Given the description of an element on the screen output the (x, y) to click on. 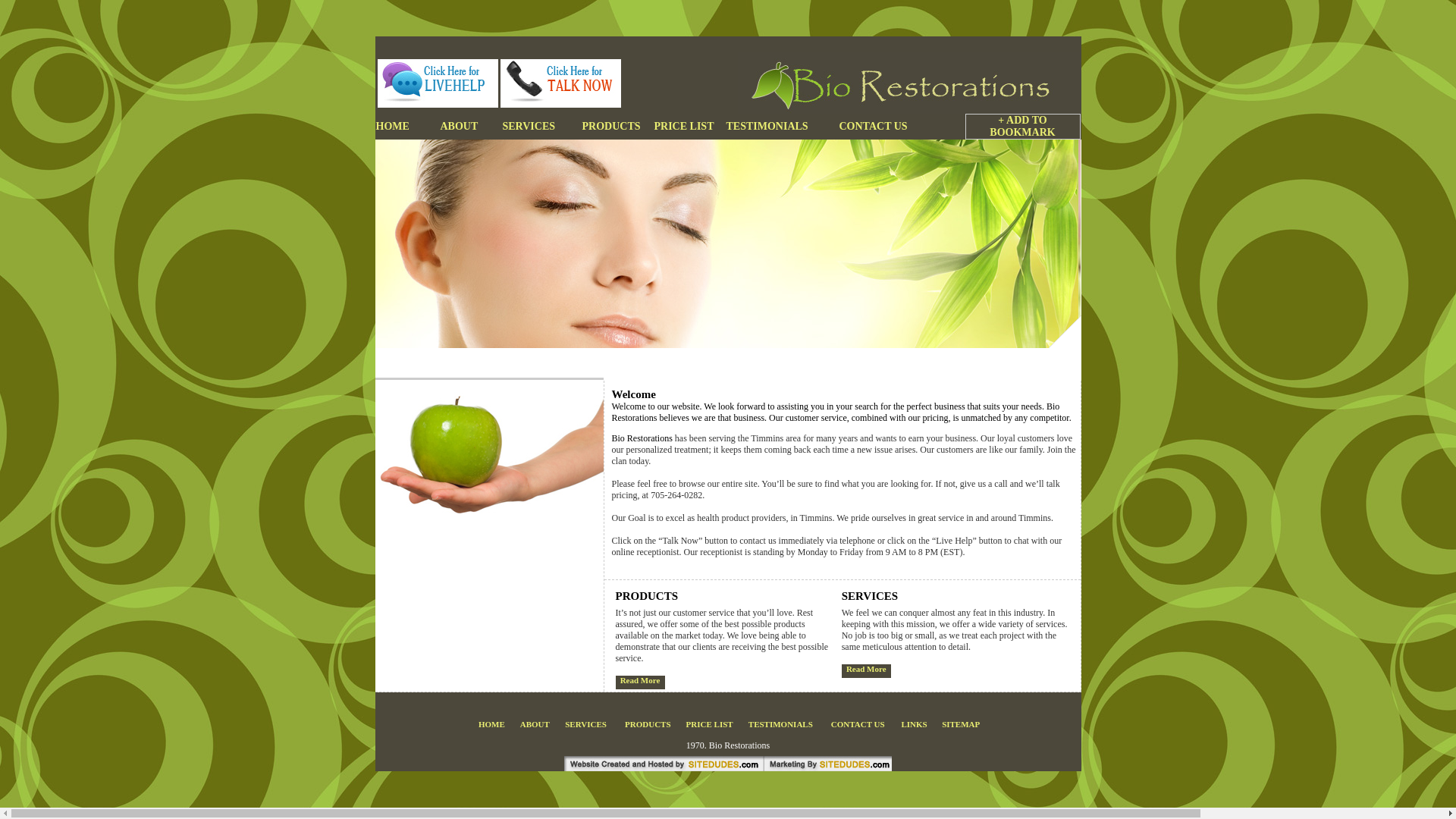
LINKS Element type: text (913, 723)
SERVICES Element type: text (585, 723)
ABOUT Element type: text (534, 723)
TESTIMONIALS Element type: text (782, 126)
TESTIMONIALS Element type: text (780, 723)
CONTACT US Element type: text (857, 723)
PRICE LIST Element type: text (709, 723)
+ ADD TO BOOKMARK Element type: text (1002, 126)
SITEMAP Element type: text (960, 723)
CONTACT US Element type: text (881, 126)
SERVICES Element type: text (541, 126)
HOME Element type: text (408, 126)
Read More Element type: text (866, 668)
Read More Element type: text (640, 679)
PRICE LIST Element type: text (683, 126)
HOME Element type: text (491, 723)
PRODUCTS Element type: text (611, 126)
PRODUCTS Element type: text (647, 723)
ABOUT Element type: text (470, 126)
